Given the description of an element on the screen output the (x, y) to click on. 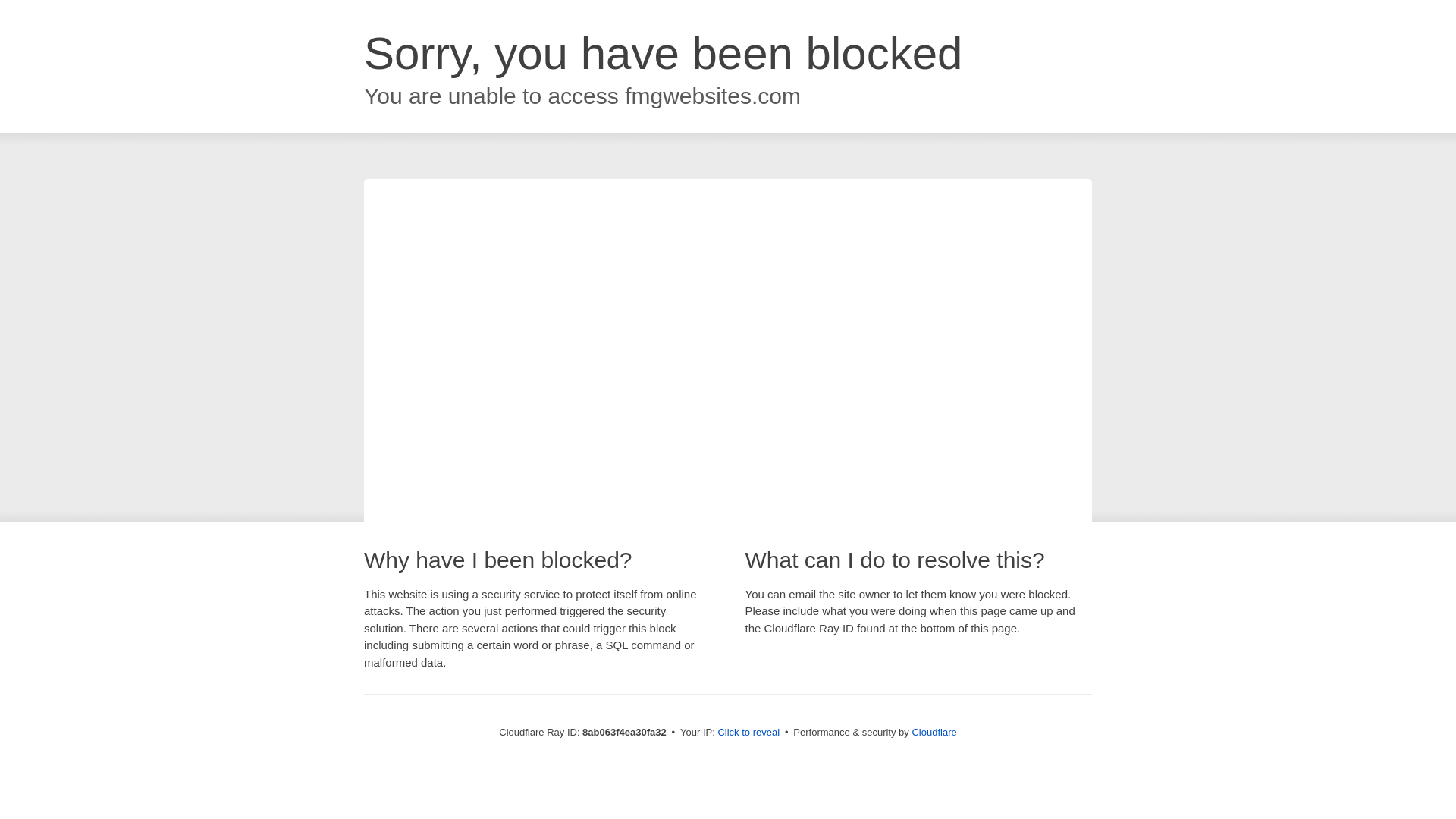
Click to reveal (747, 732)
Cloudflare (933, 731)
